Given the description of an element on the screen output the (x, y) to click on. 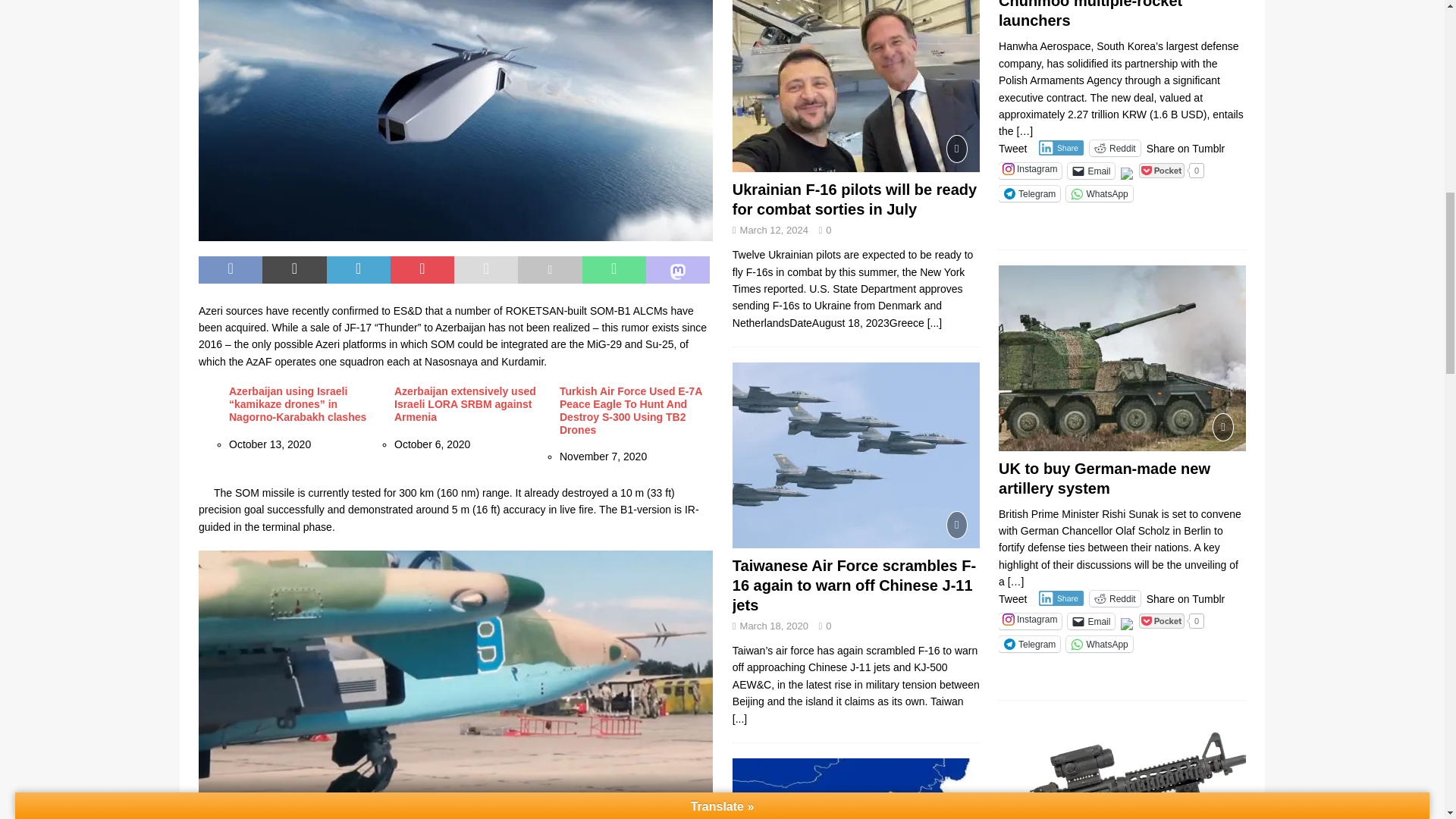
Share on Facebook (230, 269)
SOM (455, 120)
